Given the description of an element on the screen output the (x, y) to click on. 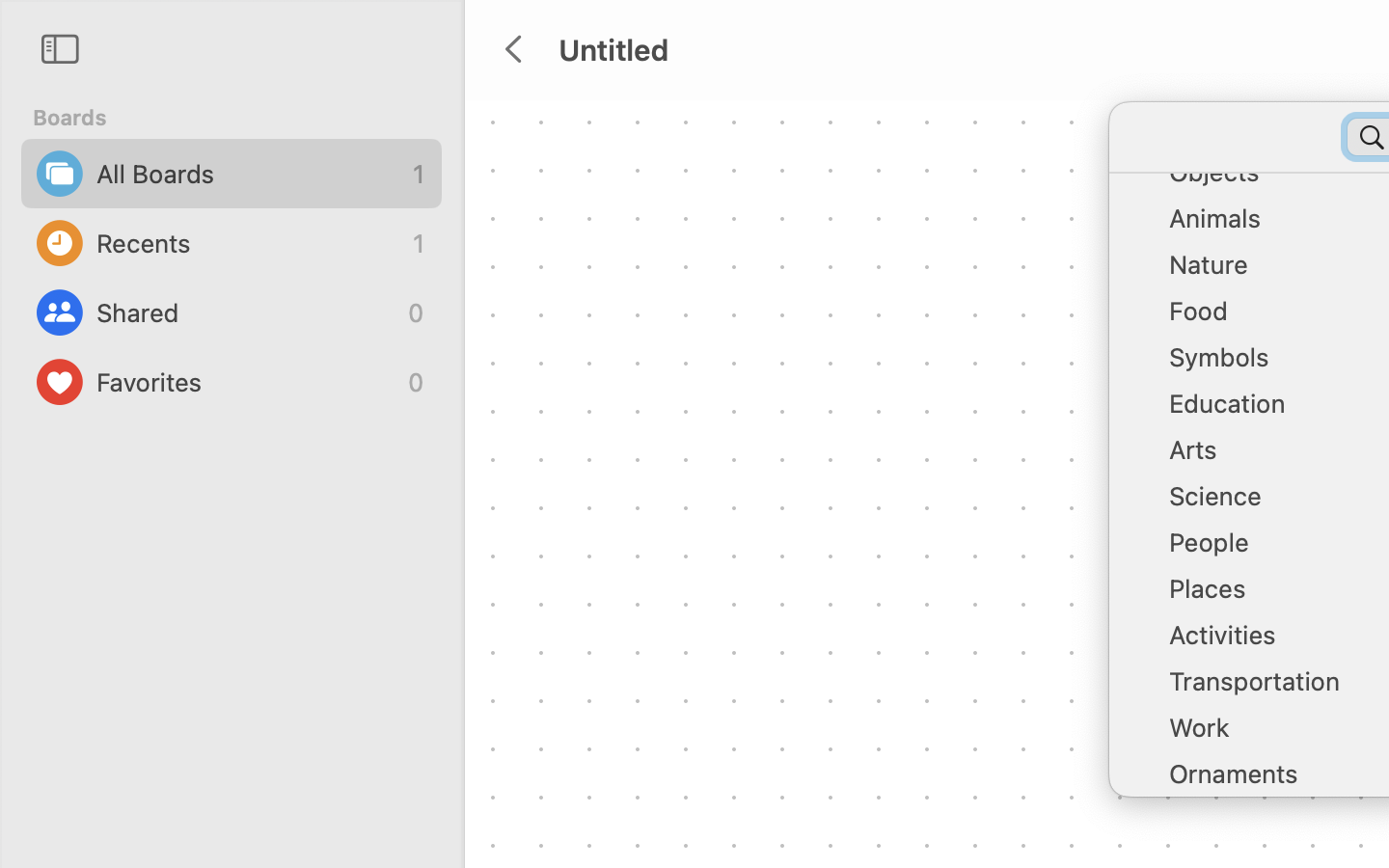
Recents Element type: AXStaticText (249, 242)
Food Element type: AXStaticText (1273, 318)
Boards Element type: AXStaticText (242, 117)
Shared Element type: AXStaticText (246, 312)
Places Element type: AXStaticText (1273, 595)
